Given the description of an element on the screen output the (x, y) to click on. 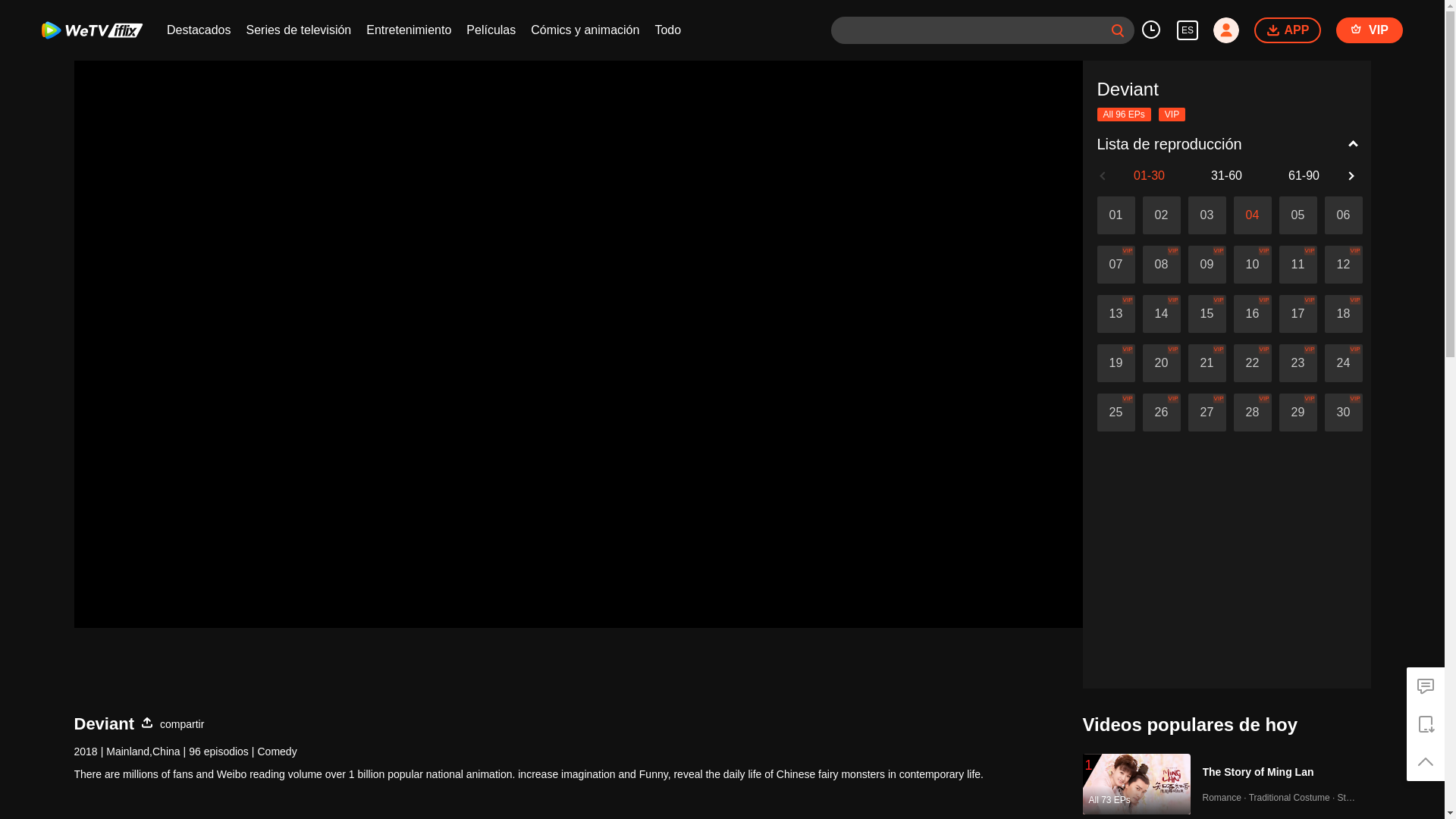
VIP (1369, 30)
Destacados (199, 30)
Entretenimiento (408, 30)
